Given the description of an element on the screen output the (x, y) to click on. 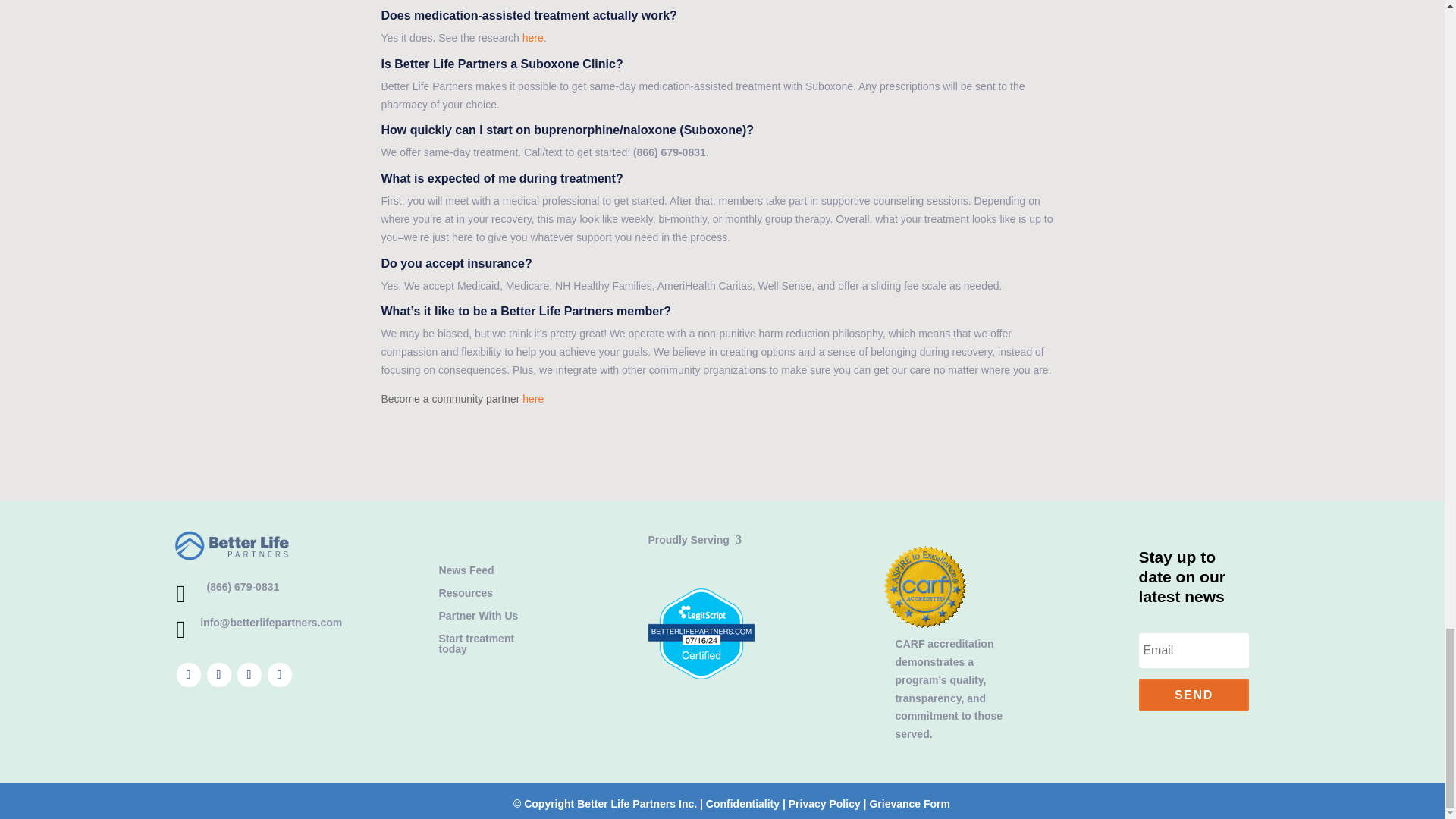
Follow on X (218, 674)
BLP All New Logos-02 (232, 545)
Follow on Facebook (188, 674)
here (532, 398)
 CARF International (924, 668)
Follow on Instagram (247, 674)
Verify LegitScript Approval (700, 675)
here (532, 37)
Follow on LinkedIn (278, 674)
